Given the description of an element on the screen output the (x, y) to click on. 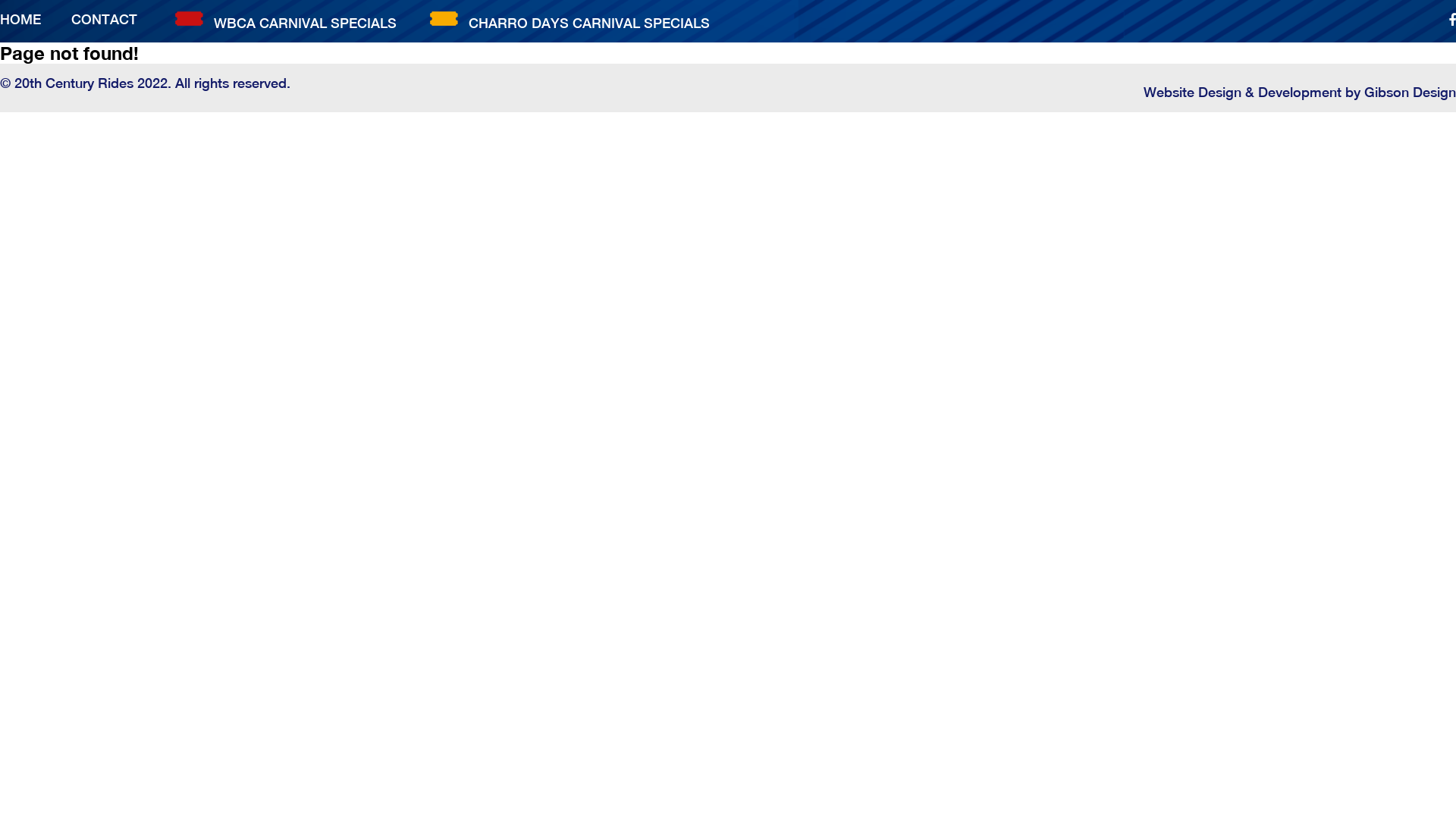
CONTACT Element type: text (104, 19)
HOME Element type: text (20, 19)
Layer 2 copy Element type: hover (443, 18)
CHARRO DAYS CARNIVAL SPECIALS Element type: text (588, 23)
WBCA CARNIVAL SPECIALS Element type: text (304, 23)
Layer 2(1) Element type: hover (189, 18)
